Given the description of an element on the screen output the (x, y) to click on. 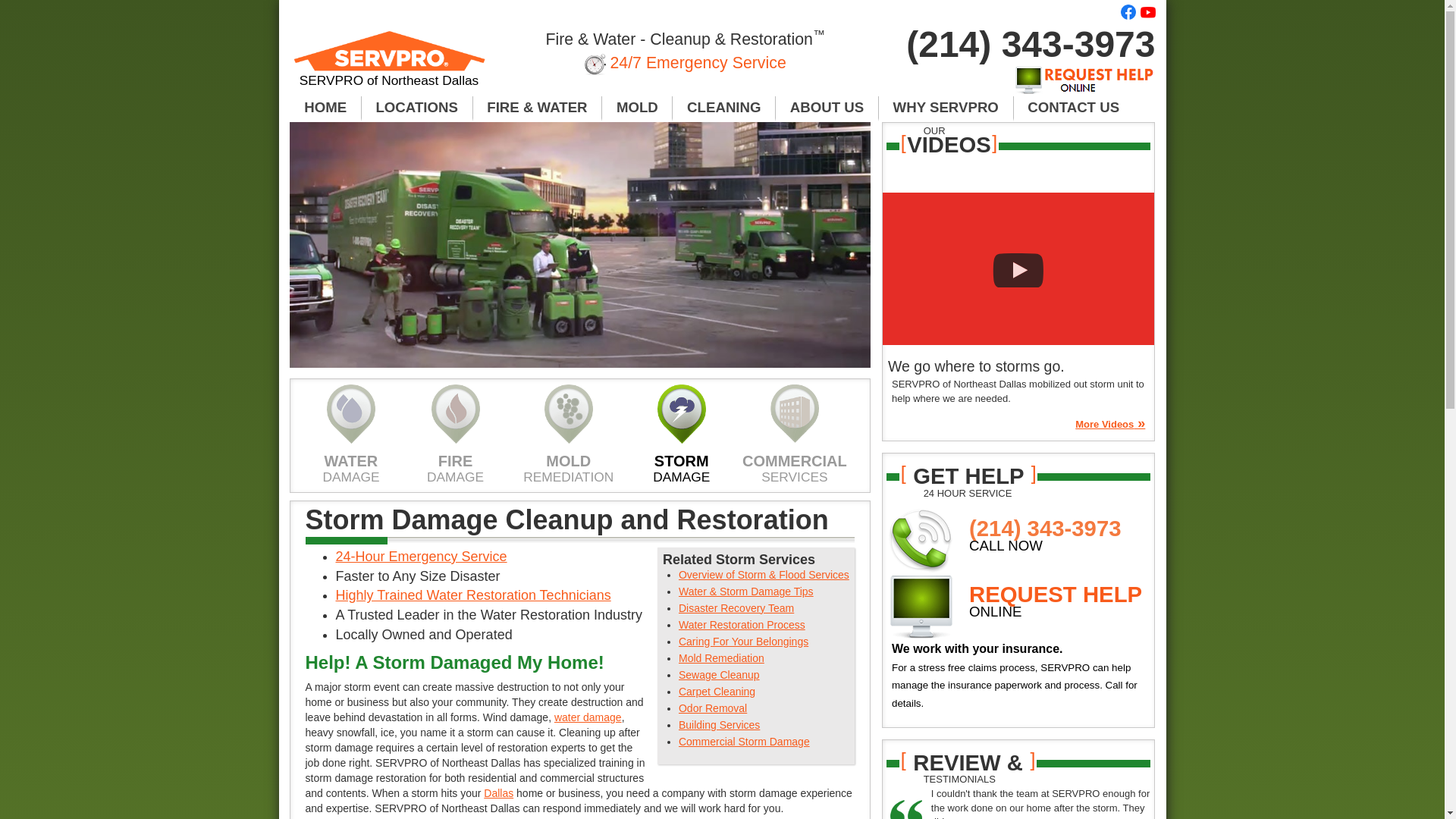
HOME (325, 108)
CLEANING (724, 108)
ABOUT US (827, 108)
SERVPRO of Northeast Dallas (389, 65)
LOCATIONS (417, 108)
MOLD (637, 108)
